Given the description of an element on the screen output the (x, y) to click on. 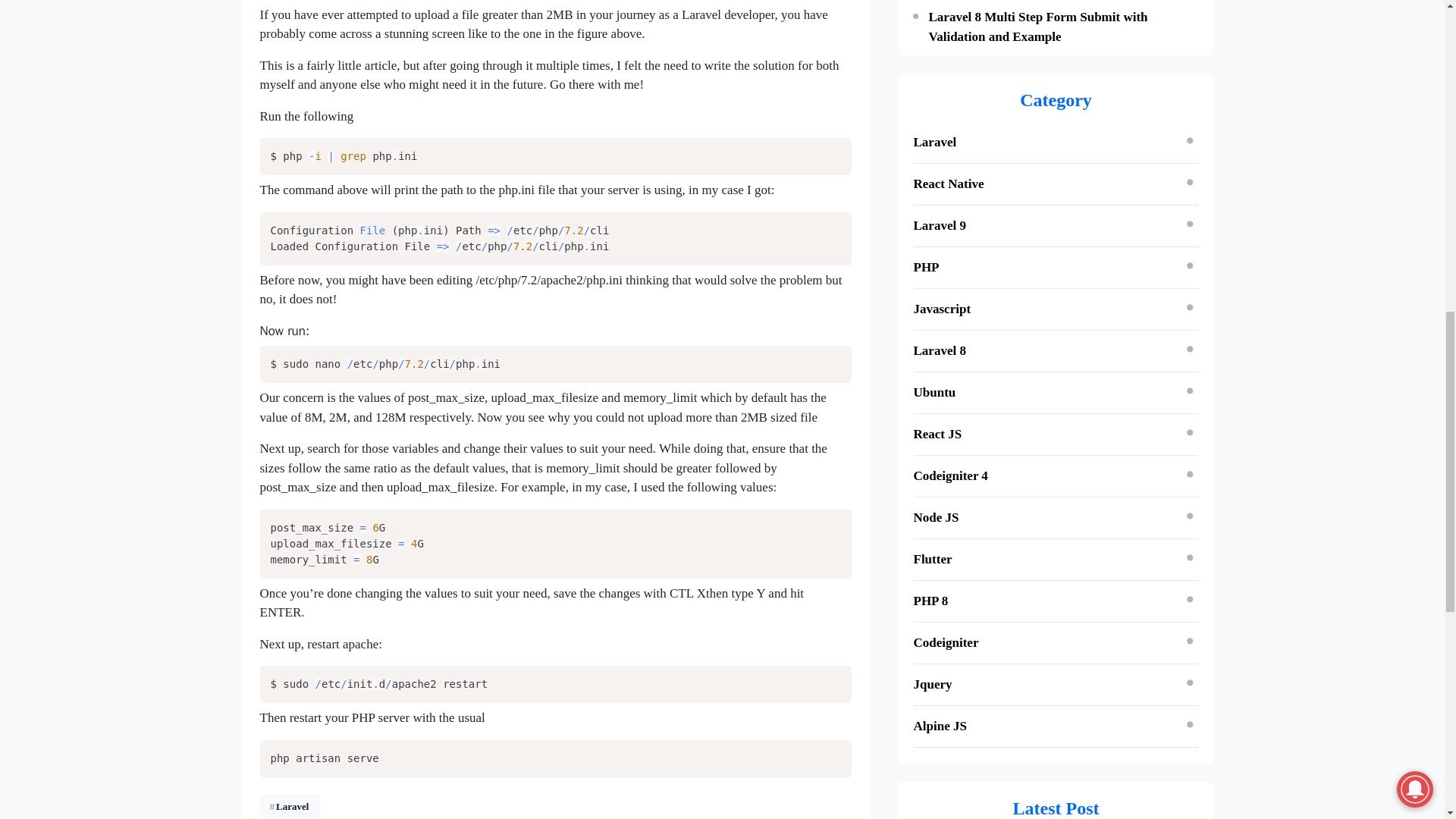
Laravel 8 Multi Step Form Submit with Validation and Example (1037, 26)
React Native (948, 183)
Laravel 9 (938, 225)
Javascript (941, 309)
Laravel (934, 142)
Laravel 8 (938, 350)
PHP (925, 267)
Ubuntu (933, 391)
